Given the description of an element on the screen output the (x, y) to click on. 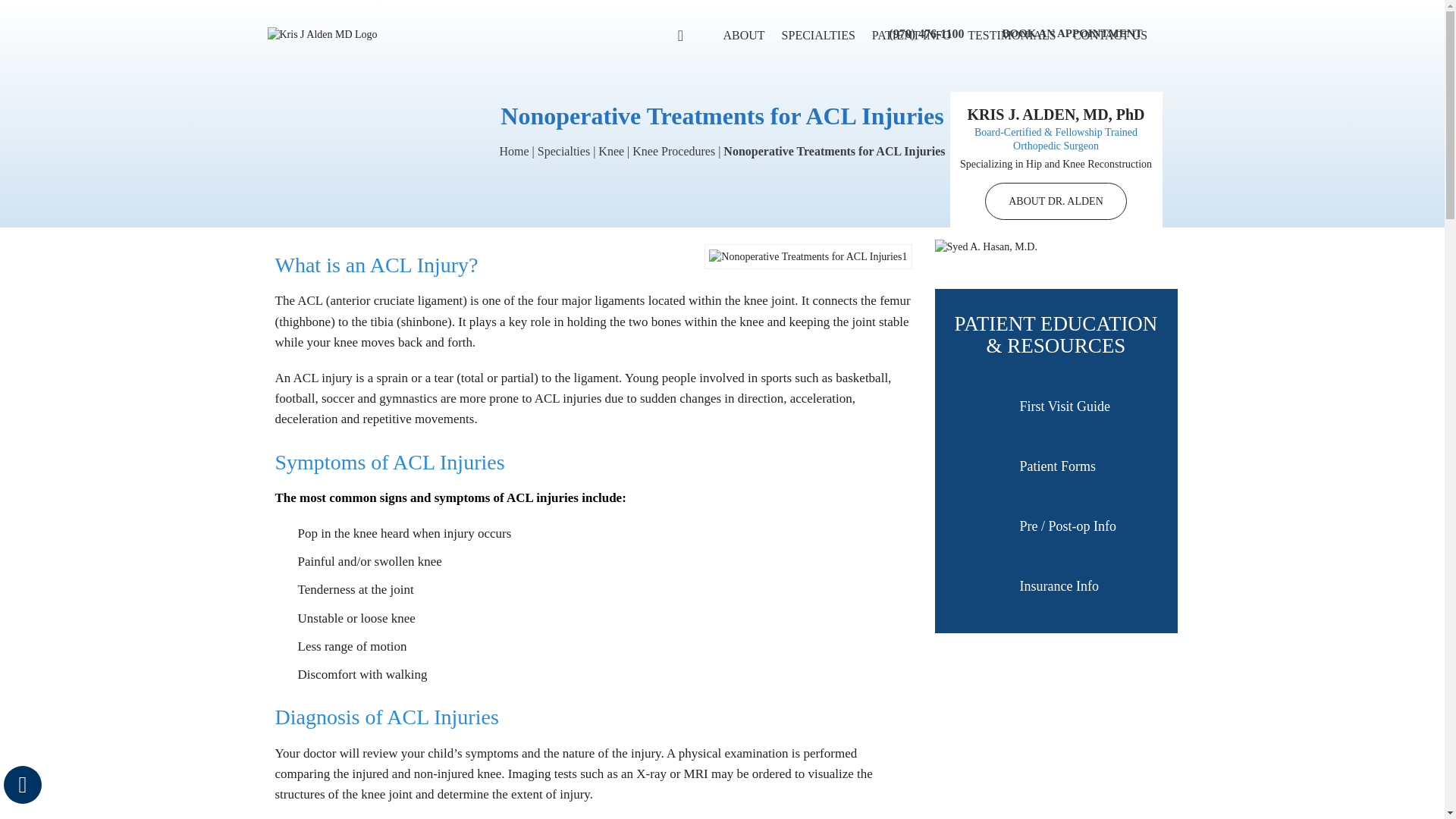
Hide (22, 784)
PATIENT INFO (911, 35)
TESTIMONIALS (1011, 35)
HOME (680, 35)
SPECIALTIES (818, 35)
CONTACT US (1110, 35)
Accessible Tool Options (23, 784)
ABOUT (743, 35)
Home (513, 151)
BOOK AN APPOINTMENT (1062, 37)
